Given the description of an element on the screen output the (x, y) to click on. 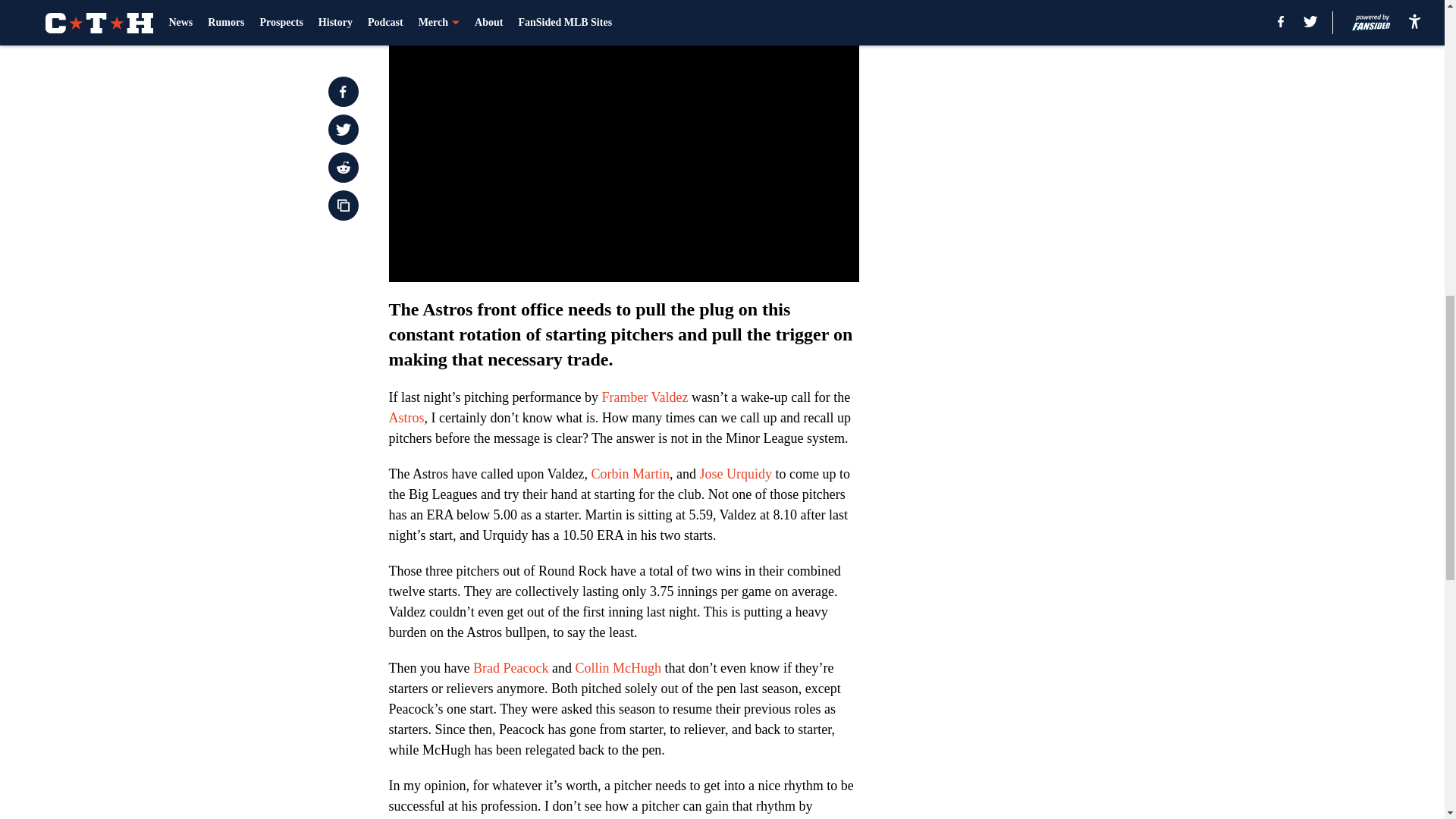
Corbin Martin (630, 473)
Brad Peacock (510, 667)
Framber Valdez (644, 396)
Collin McHugh (618, 667)
Jose Urquidy (736, 473)
Astros (405, 417)
